Given the description of an element on the screen output the (x, y) to click on. 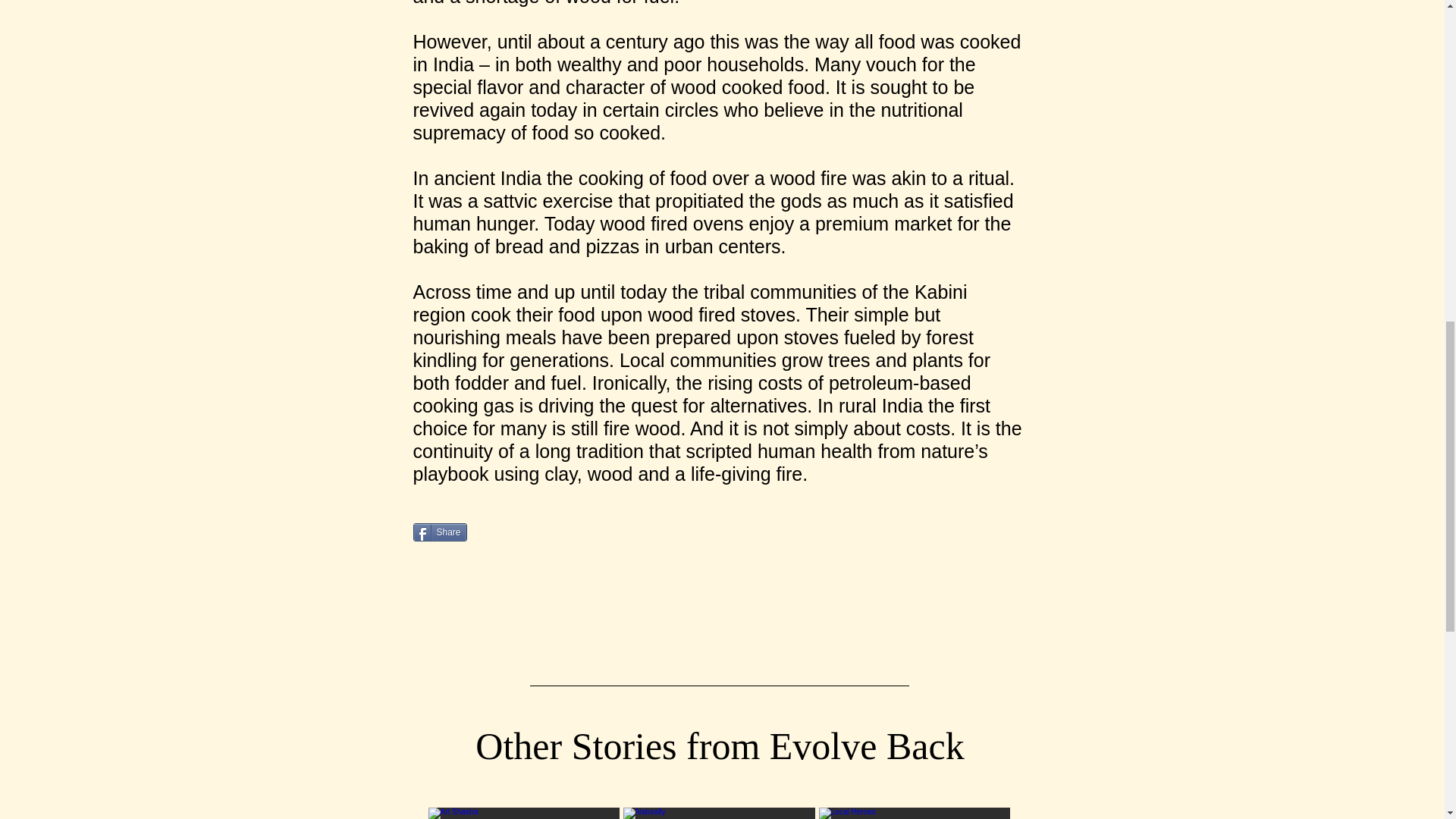
Share (438, 532)
Share (438, 532)
